Given the description of an element on the screen output the (x, y) to click on. 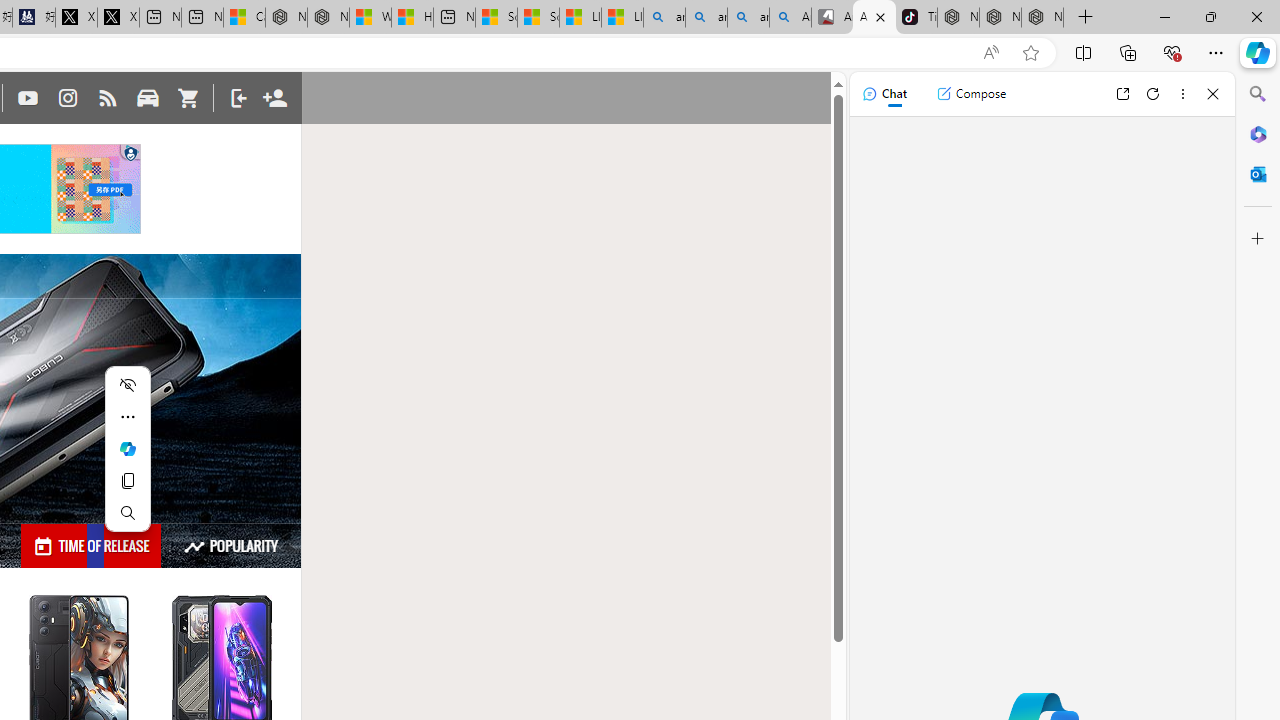
Ask Copilot (127, 448)
Chat (884, 93)
Huge shark washes ashore at New York City beach | Watch (411, 17)
Nordace - Best Sellers (958, 17)
More actions (127, 416)
Hide menu (127, 384)
